Given the description of an element on the screen output the (x, y) to click on. 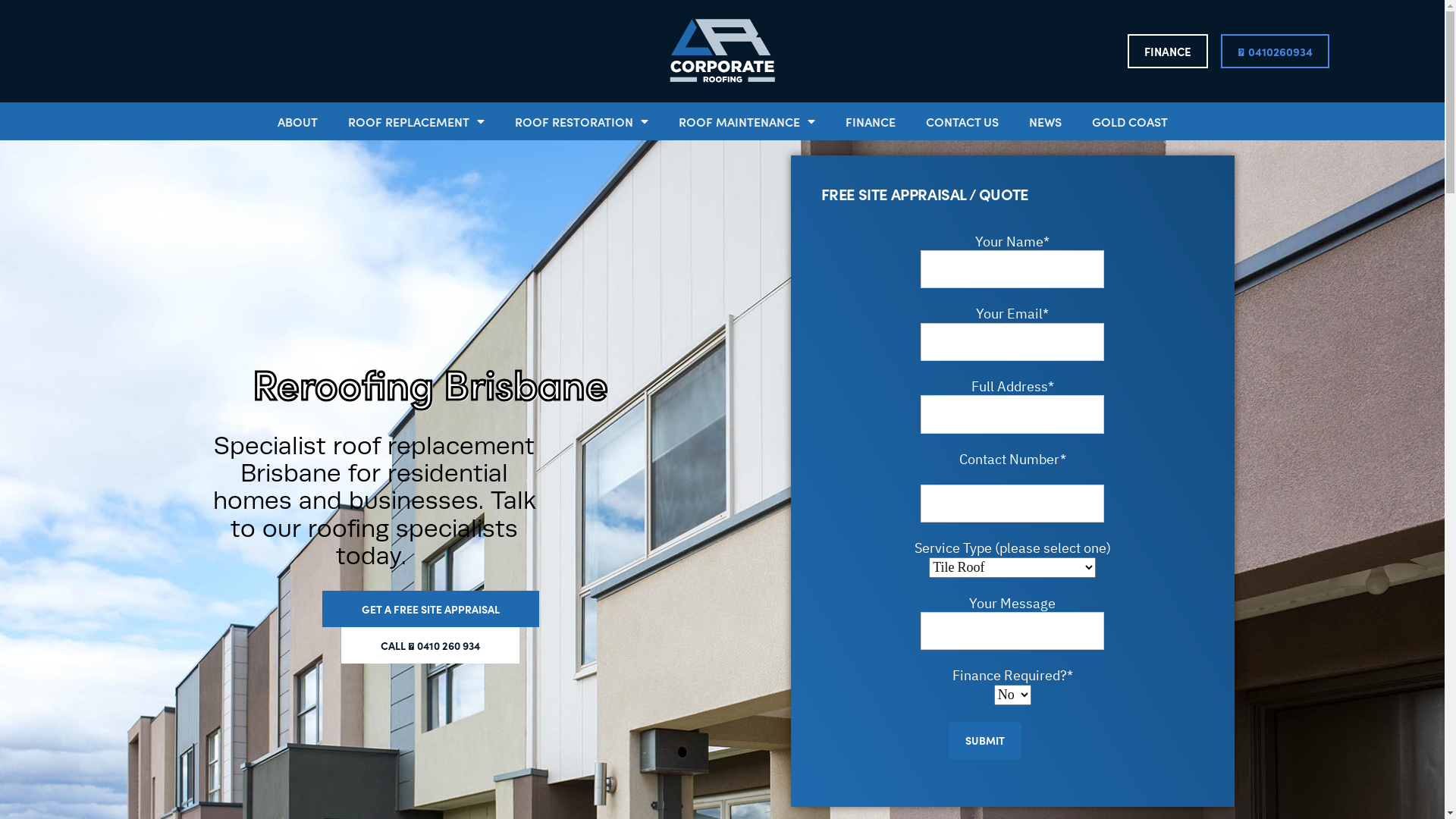
ABOUT Element type: text (297, 121)
CONTACT US Element type: text (961, 121)
ROOF REPLACEMENT Element type: text (415, 121)
NEWS Element type: text (1044, 121)
ROOF RESTORATION Element type: text (580, 121)
FINANCE Element type: text (1166, 51)
ROOF MAINTENANCE Element type: text (745, 121)
Submit Element type: text (984, 740)
GET A FREE SITE APPRAISAL Element type: text (429, 608)
GOLD COAST Element type: text (1129, 121)
FINANCE Element type: text (869, 121)
